Given the description of an element on the screen output the (x, y) to click on. 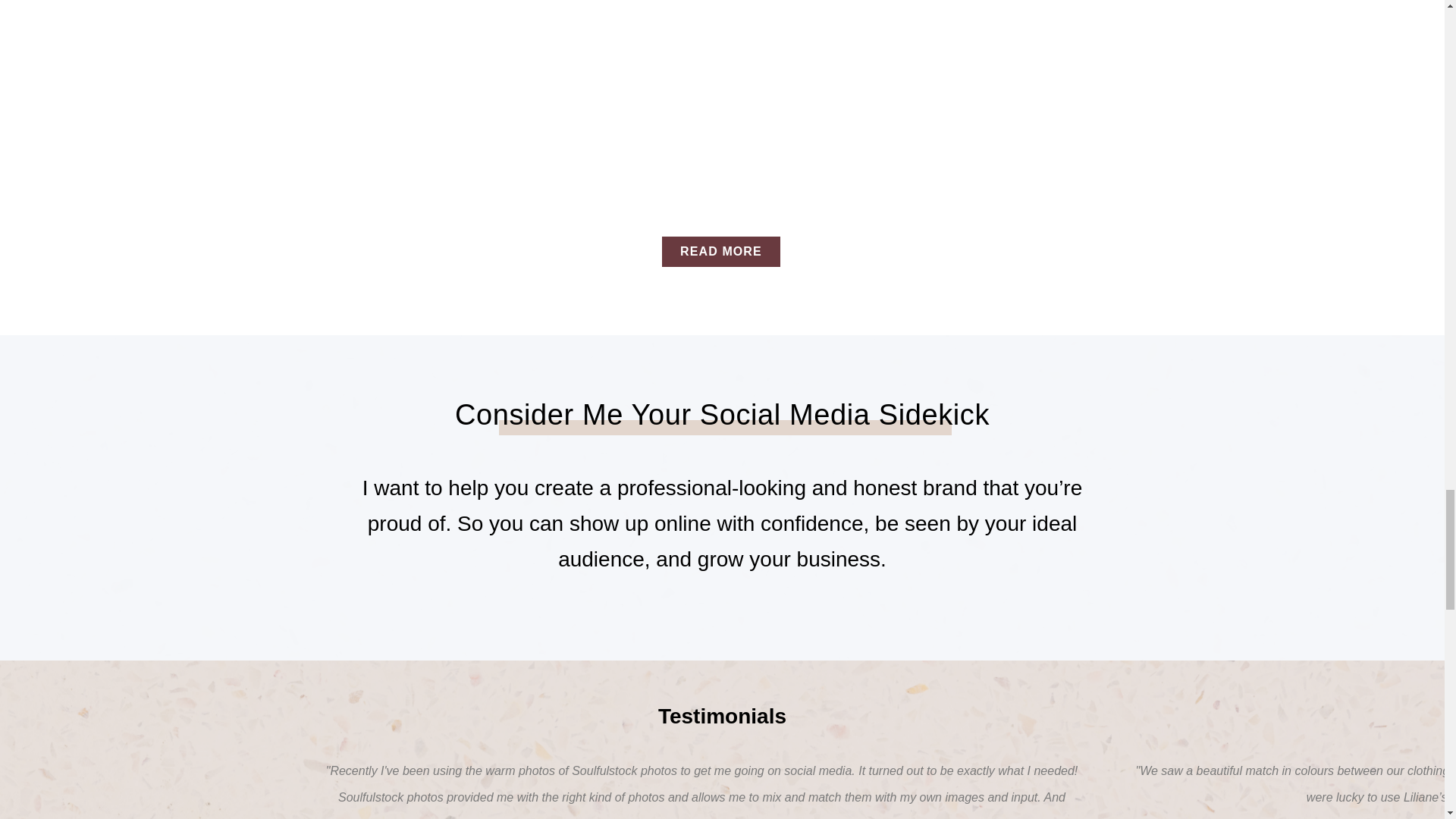
READ MORE (721, 251)
